Given the description of an element on the screen output the (x, y) to click on. 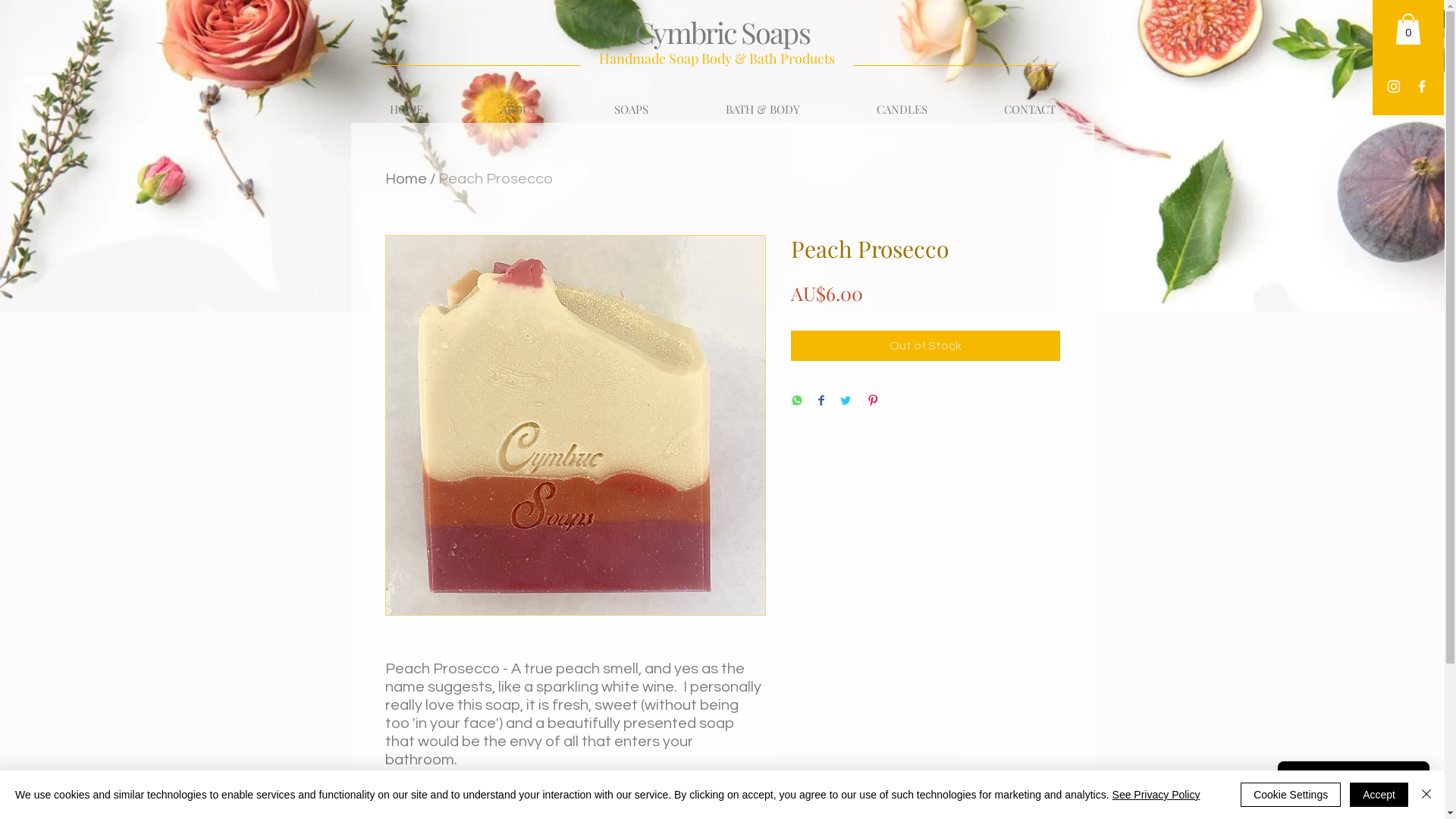
CONTACT Element type: text (1030, 108)
Accept Element type: text (1378, 794)
ABOUT Element type: text (517, 108)
See Privacy Policy Element type: text (1156, 794)
Peach Prosecco Element type: text (495, 178)
0 Element type: text (1408, 28)
BATH & BODY Element type: text (762, 108)
HOME Element type: text (405, 108)
Out of Stock Element type: text (924, 345)
Cymbric Soaps Element type: text (721, 31)
SOAPS Element type: text (630, 108)
CANDLES Element type: text (902, 108)
Cookie Settings Element type: text (1290, 794)
Home Element type: text (405, 178)
